Given the description of an element on the screen output the (x, y) to click on. 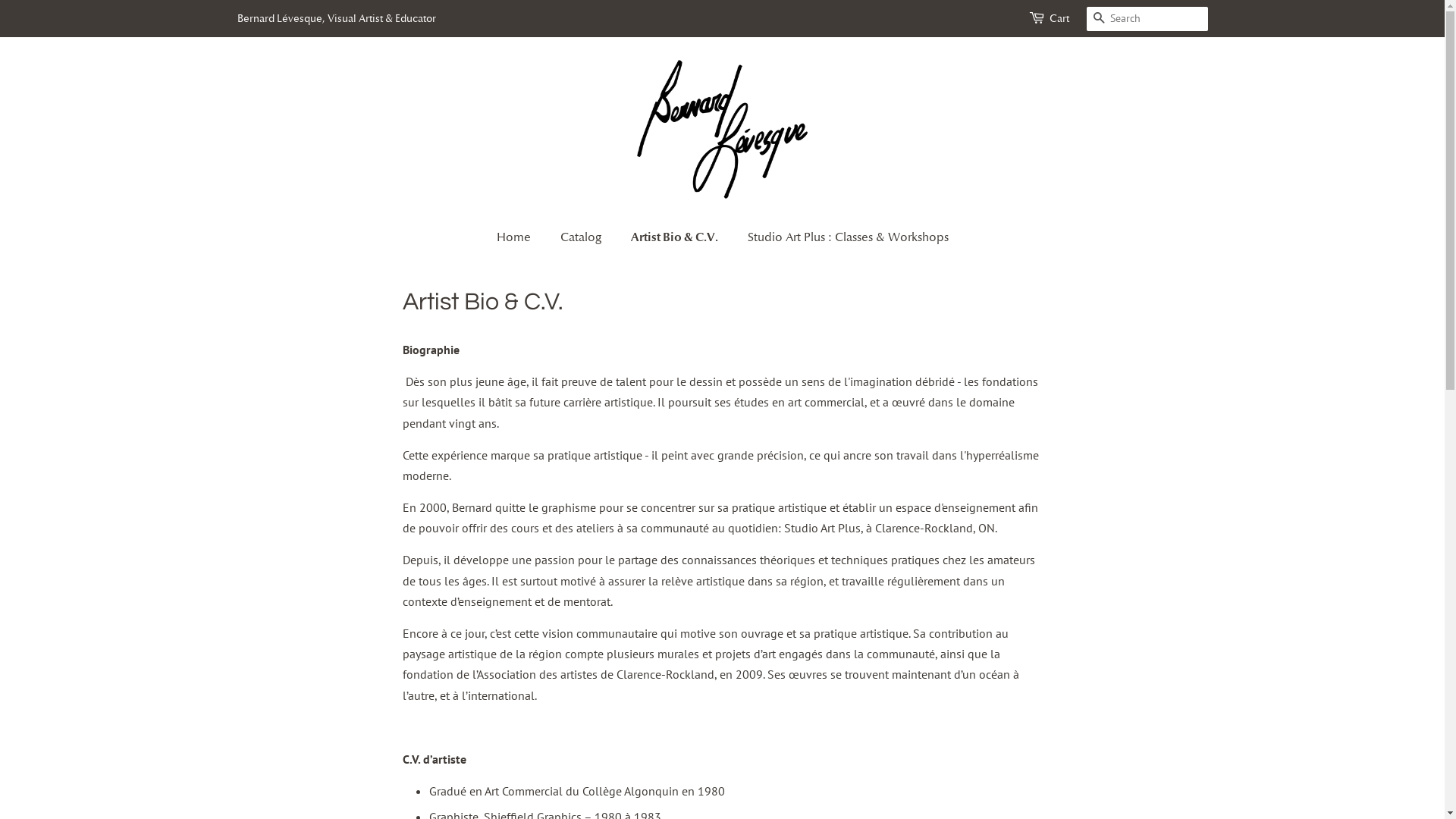
Studio Art Plus : Classes & Workshops Element type: text (841, 237)
Home Element type: text (520, 237)
Catalog Element type: text (582, 237)
Search Element type: text (1097, 18)
Cart Element type: text (1059, 18)
Artist Bio & C.V. Element type: text (675, 236)
